Given the description of an element on the screen output the (x, y) to click on. 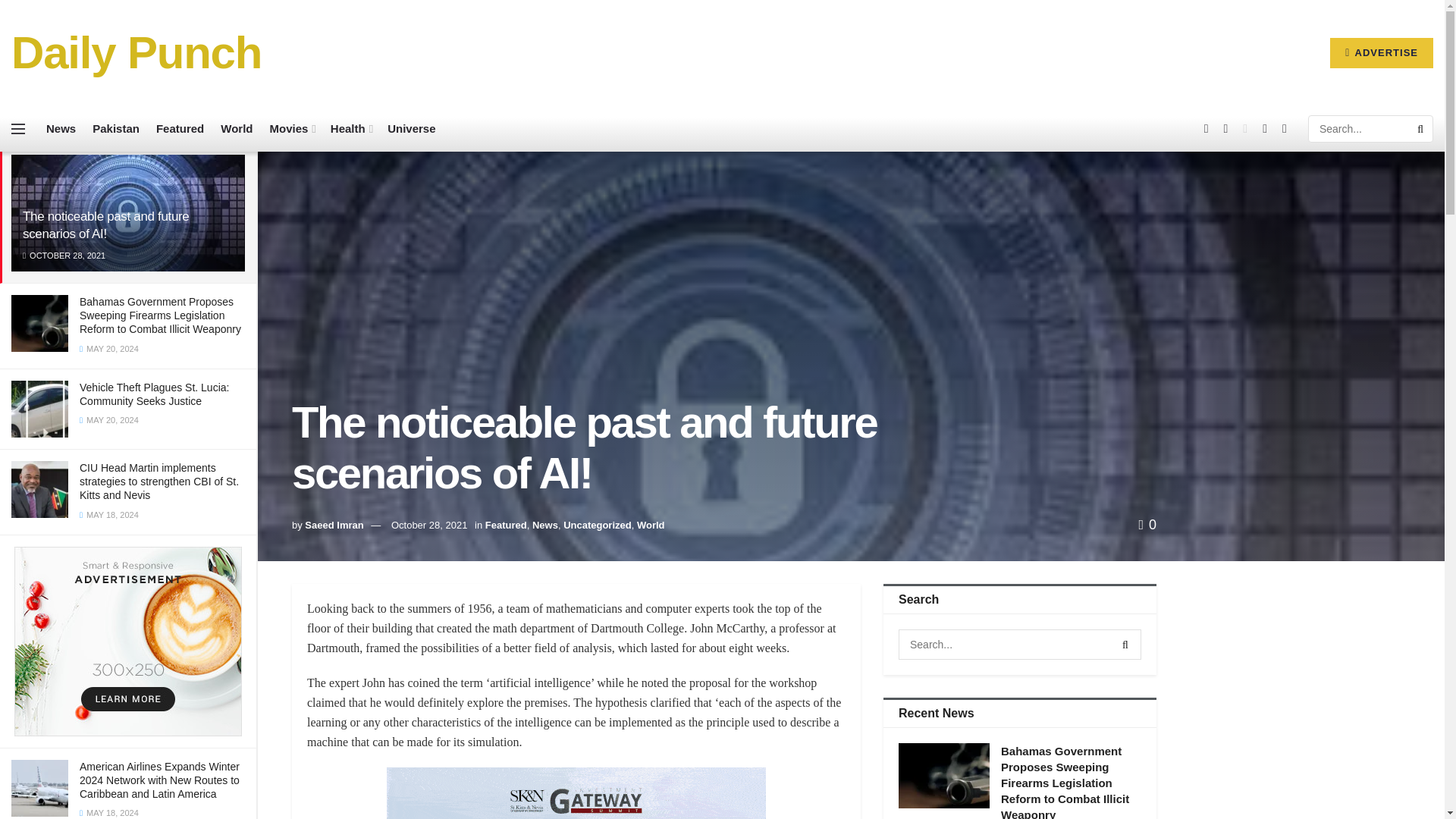
Pakistan (116, 128)
Movies (291, 128)
ADVERTISE (1381, 52)
Daily Punch (136, 53)
Vehicle Theft Plagues St. Lucia: Community Seeks Justice (154, 394)
The noticeable past and future scenarios of AI! (106, 224)
Featured (179, 128)
